Given the description of an element on the screen output the (x, y) to click on. 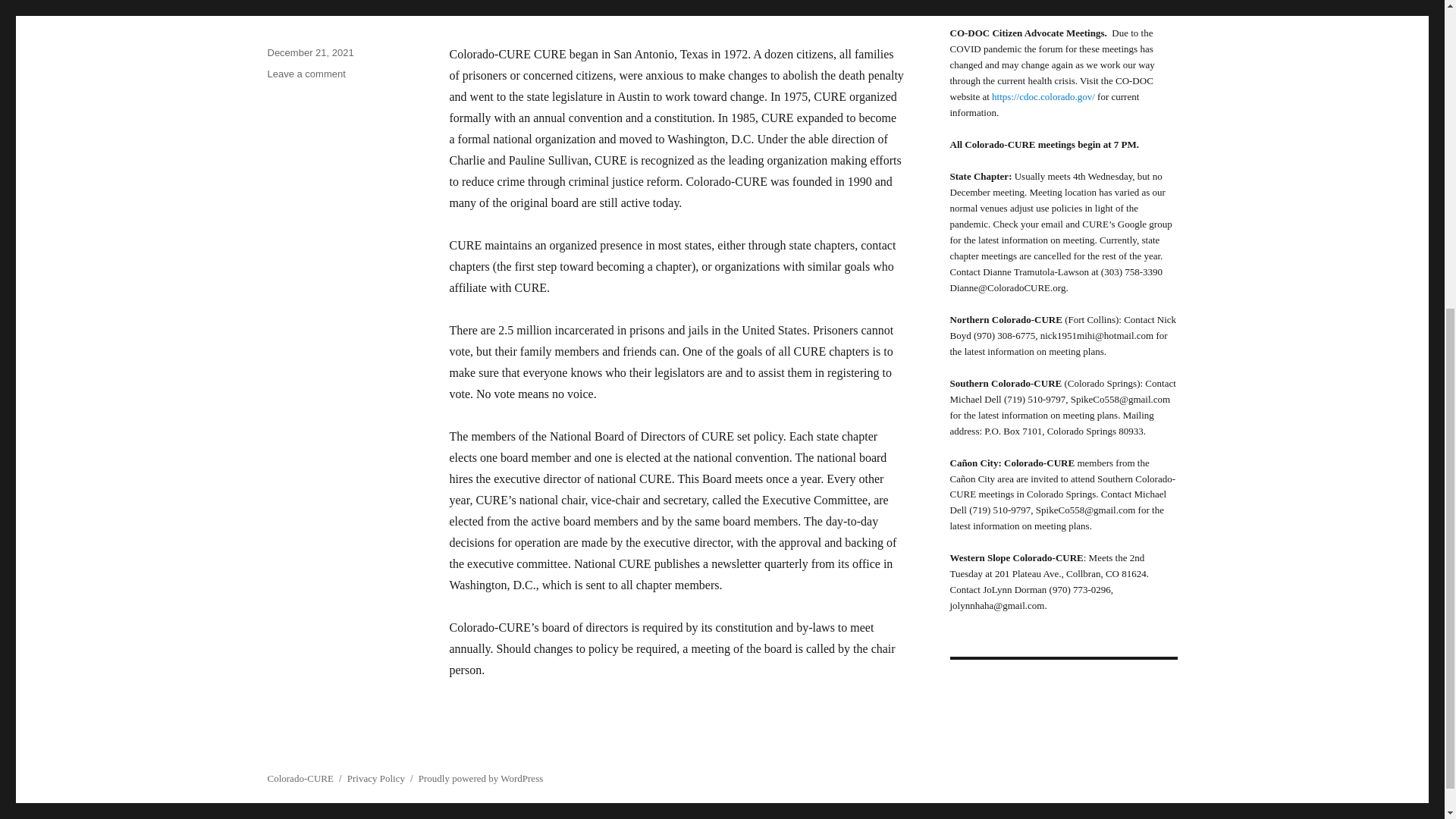
Welcome to Colorado -CURE (474, 4)
December 21, 2021 (309, 52)
Proudly powered by WordPress (481, 778)
Colorado-CURE (299, 778)
Privacy Policy (305, 73)
